Given the description of an element on the screen output the (x, y) to click on. 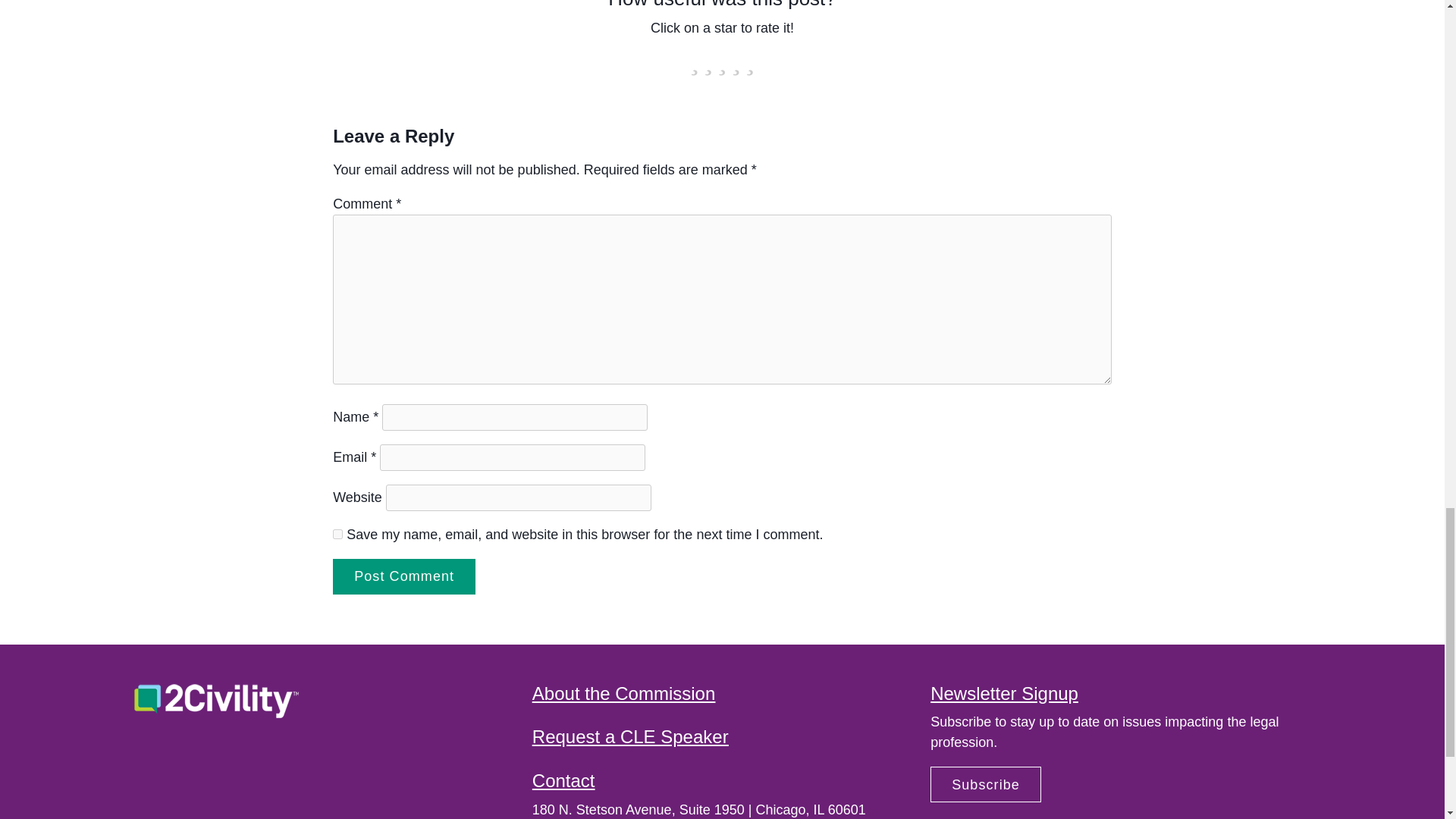
Post Comment (404, 576)
yes (337, 533)
Post Comment (404, 576)
